Given the description of an element on the screen output the (x, y) to click on. 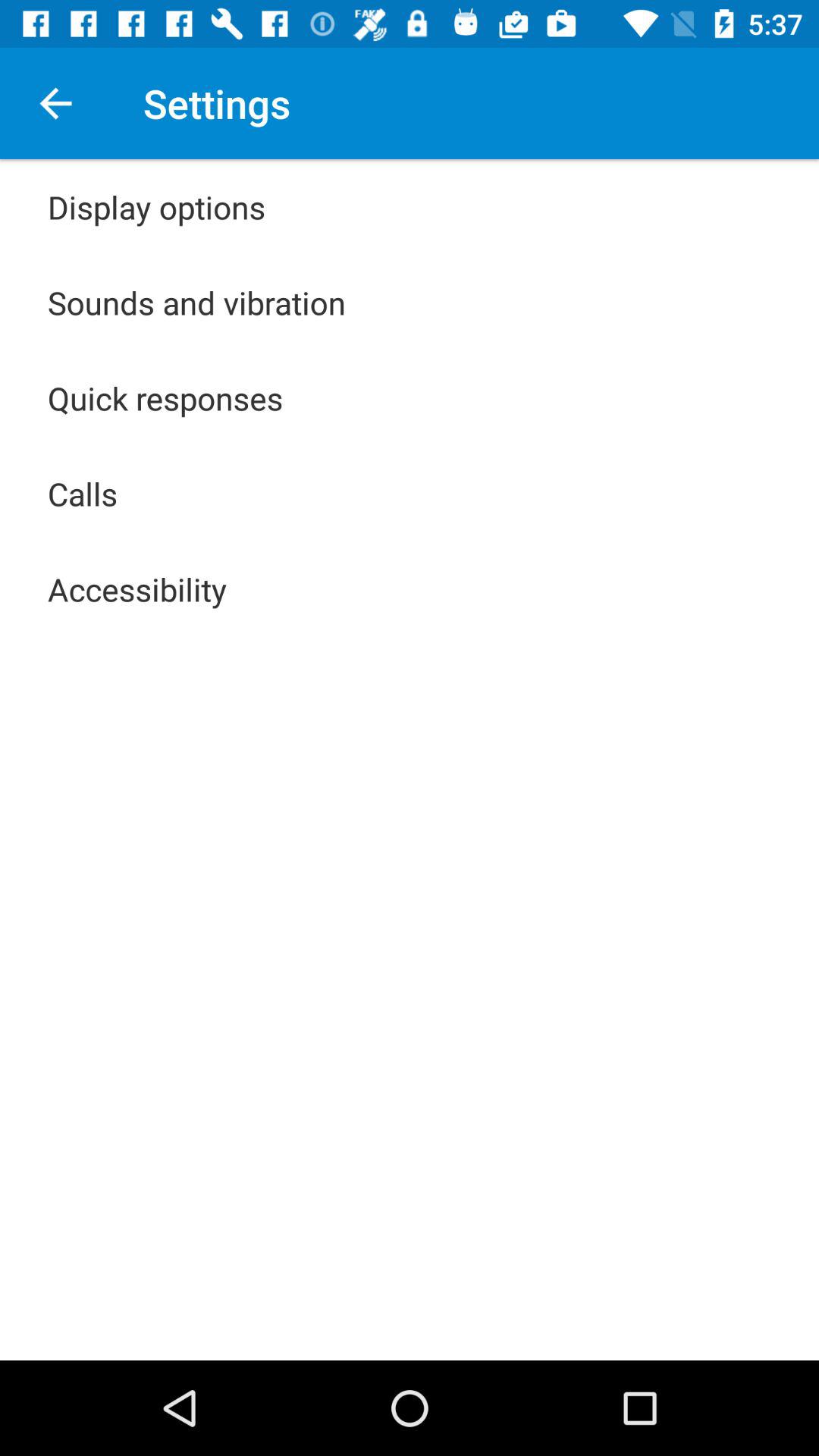
click the icon above the sounds and vibration (156, 206)
